Given the description of an element on the screen output the (x, y) to click on. 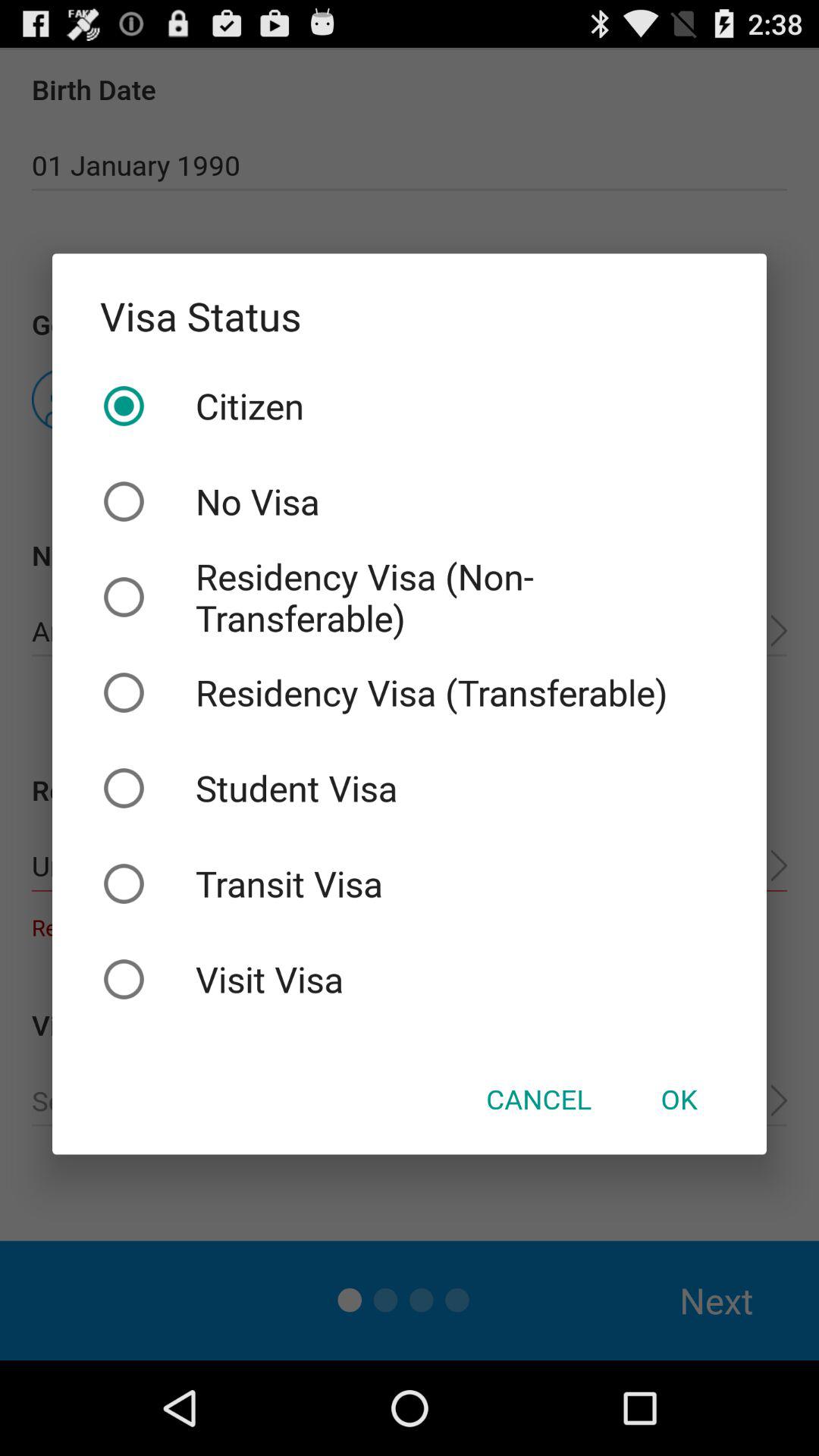
select the icon below visit visa icon (538, 1098)
